Given the description of an element on the screen output the (x, y) to click on. 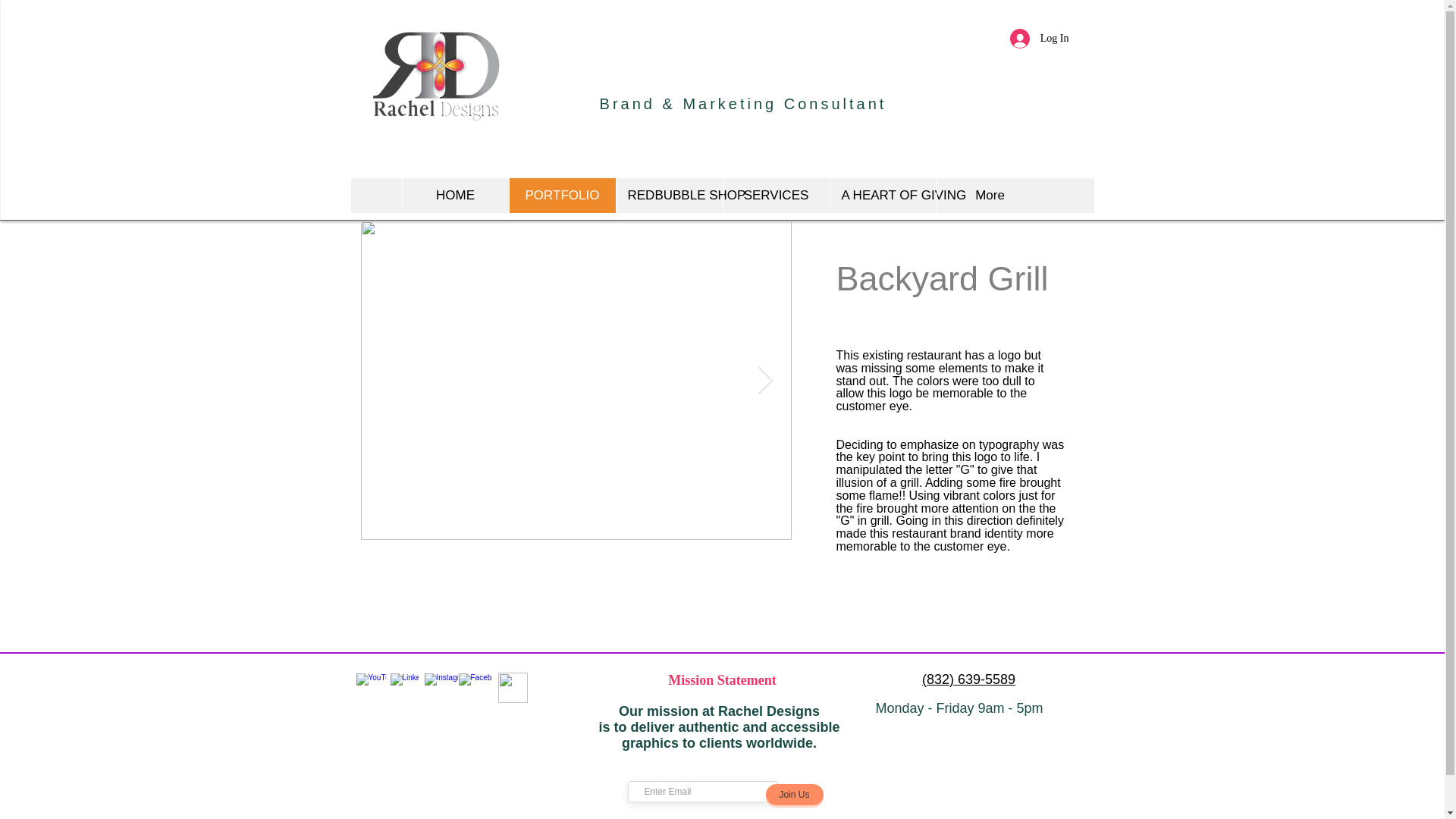
Log In (1039, 38)
PORTFOLIO (561, 195)
A HEART OF GIVING (882, 195)
HOME (454, 195)
Join Us (794, 794)
REDBUBBLE SHOP (668, 195)
SERVICES (775, 195)
